Given the description of an element on the screen output the (x, y) to click on. 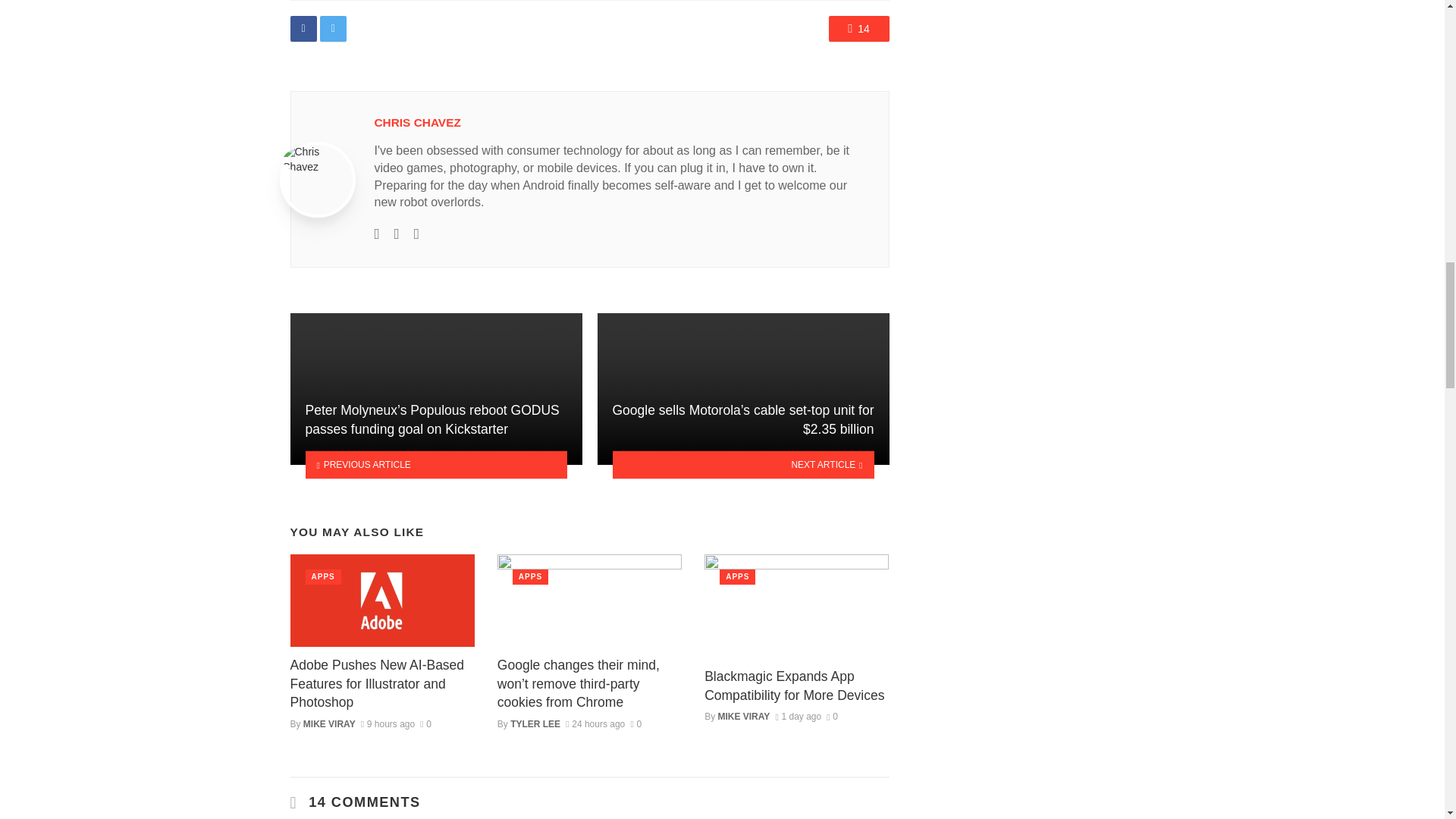
14 Comments (858, 28)
Posts by Chris Chavez (417, 122)
July 23, 2024 at 12:15 am (595, 724)
July 23, 2024 at 3:07 pm (387, 724)
July 22, 2024 at 4:09 pm (797, 716)
CHRIS CHAVEZ (417, 122)
14 (858, 28)
0 Comments (636, 724)
Twitter (396, 233)
Share on Facebook (302, 28)
0 Comments (425, 724)
Website (377, 233)
Share on Twitter (333, 28)
